Given the description of an element on the screen output the (x, y) to click on. 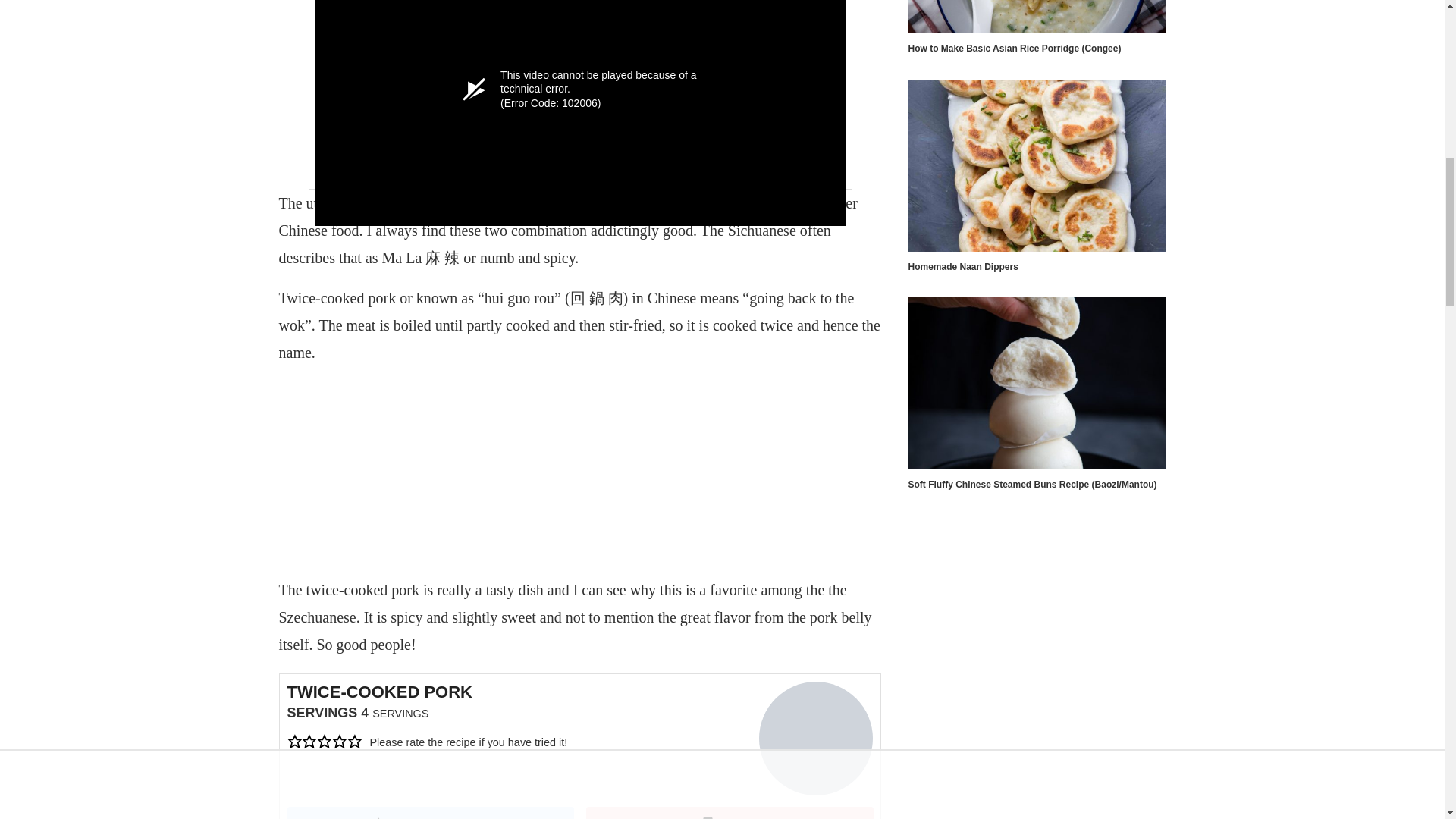
Homemade Naan Dippers (1037, 165)
